Given the description of an element on the screen output the (x, y) to click on. 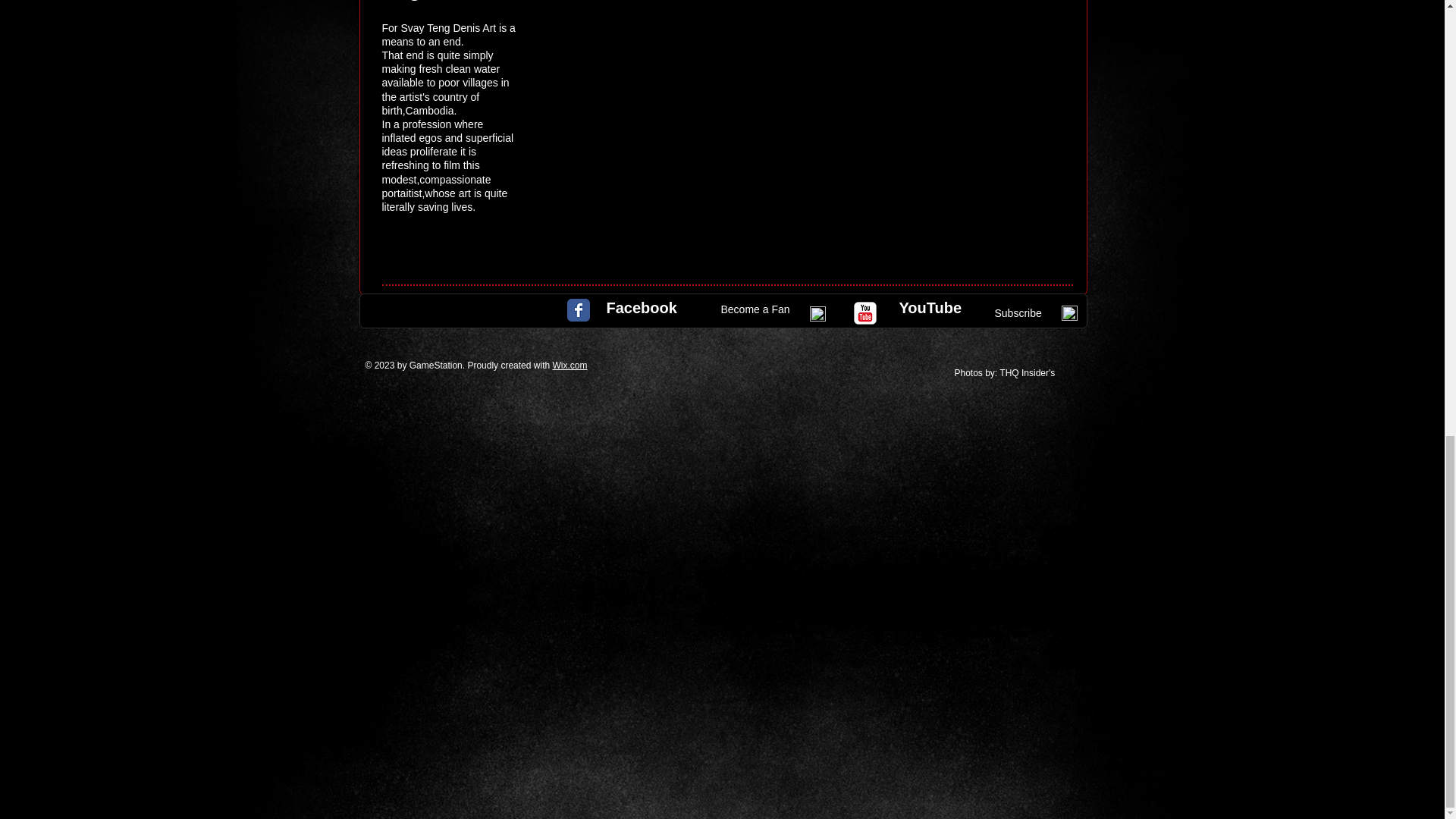
External YouTube (817, 115)
Wix.com (568, 365)
THQ Insider's  (1027, 372)
